Given the description of an element on the screen output the (x, y) to click on. 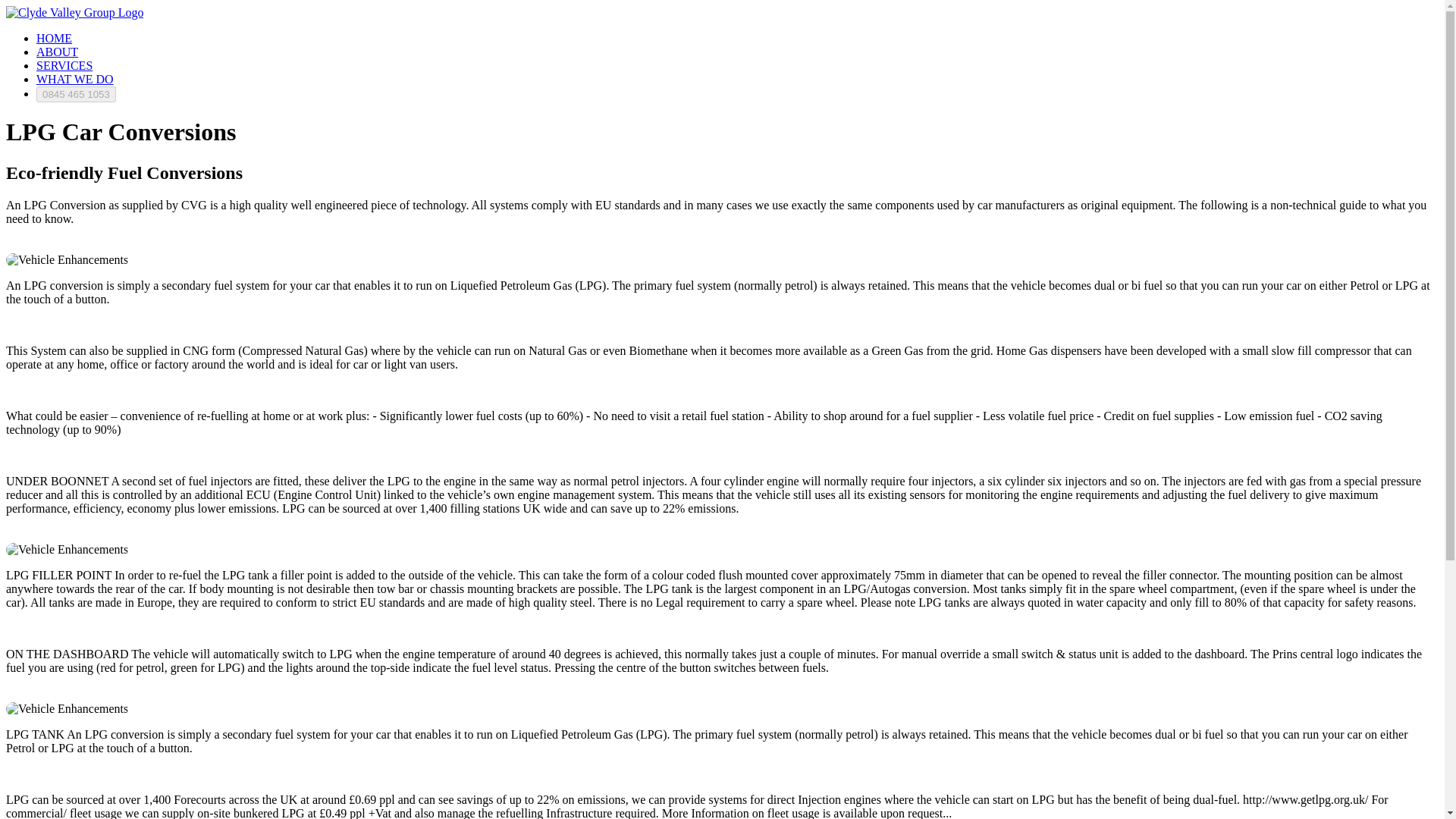
HOME (53, 38)
WHAT WE DO (74, 78)
ABOUT (57, 51)
SERVICES (64, 65)
0845 465 1053 (76, 94)
